Given the description of an element on the screen output the (x, y) to click on. 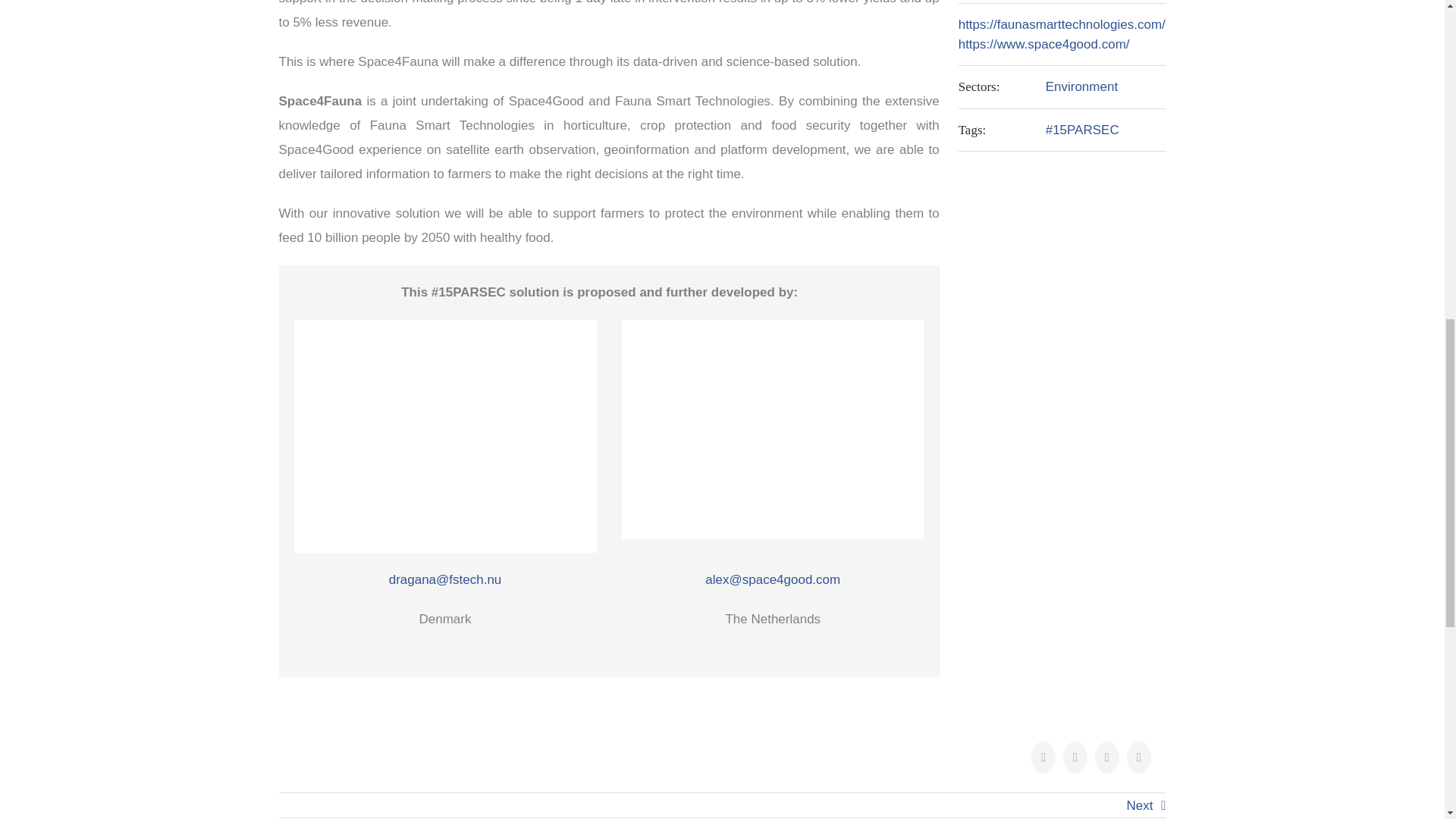
Environment (1081, 86)
Next (1139, 806)
